Given the description of an element on the screen output the (x, y) to click on. 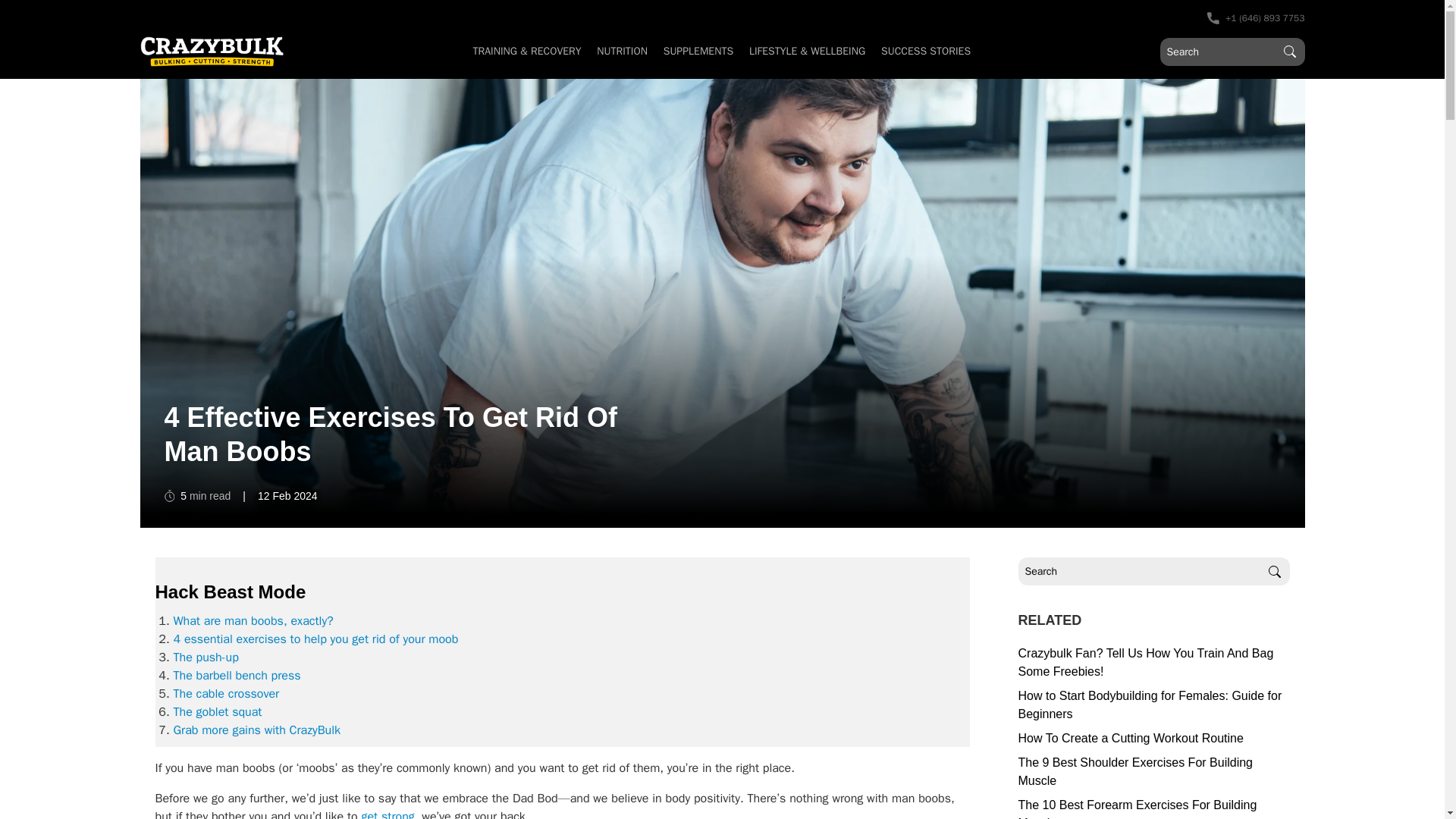
The 9 Best Shoulder Exercises For Building Muscle (1152, 771)
How To Create a Cutting Workout Routine (1152, 738)
What are man boobs, exactly? (253, 620)
4 essential exercises to help you get rid of your moob (315, 639)
SUPPLEMENTS (698, 51)
Grab more gains with CrazyBulk (256, 729)
The barbell bench press (236, 675)
Search (1273, 571)
Crazybulk Fan? Tell Us How You Train And Bag Some Freebies! (1152, 662)
The cable crossover (226, 693)
